Given the description of an element on the screen output the (x, y) to click on. 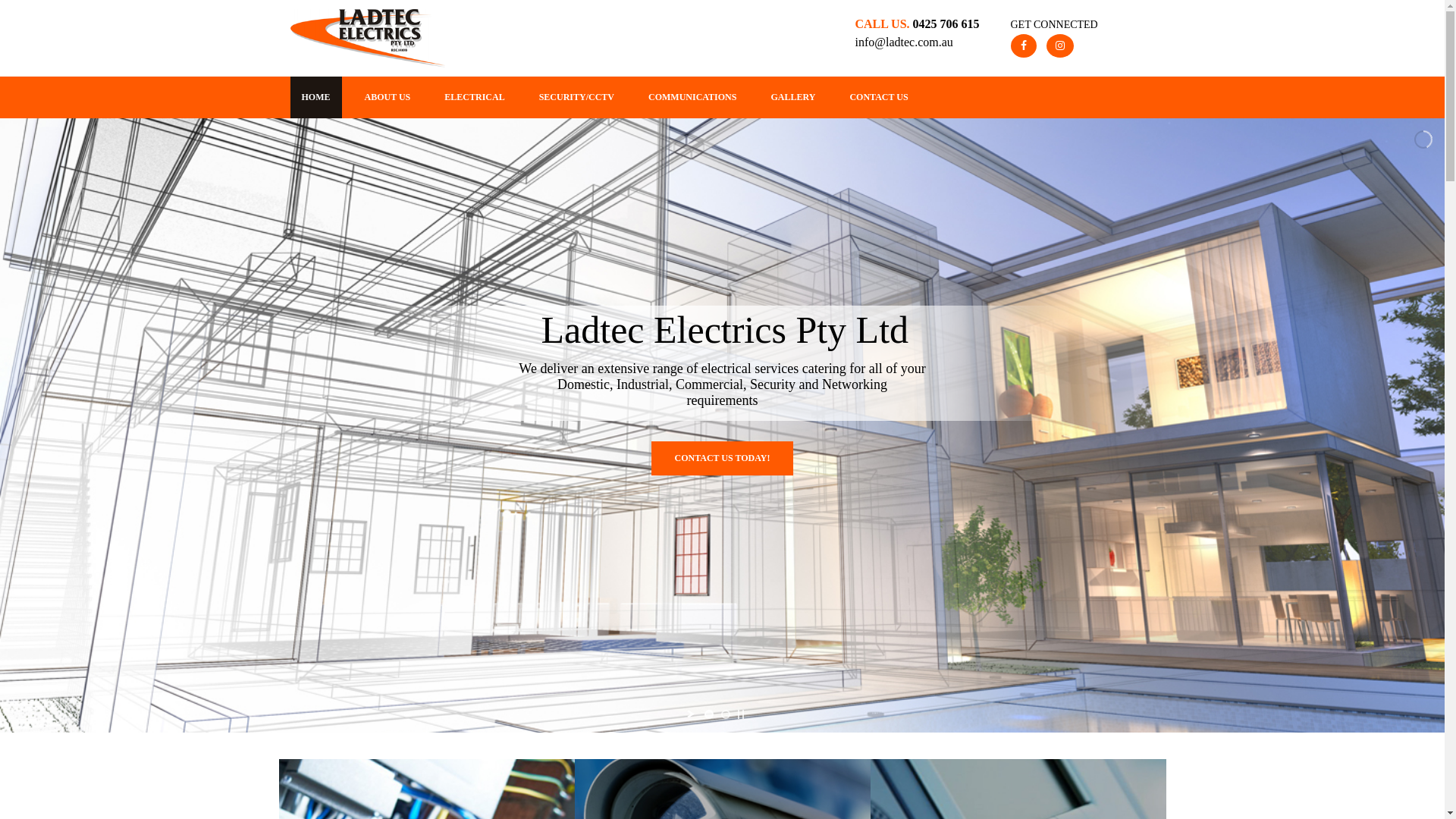
0425 706 615 Element type: text (946, 23)
COMMUNICATIONS Element type: text (692, 97)
CONTACT US Element type: text (878, 97)
SECURITY/CCTV Element type: text (576, 97)
GALLERY Element type: text (792, 97)
HOME Element type: text (315, 97)
info@ladtec.com.au Element type: text (904, 41)
ELECTRICAL Element type: text (474, 97)
ABOUT US Element type: text (387, 97)
